Given the description of an element on the screen output the (x, y) to click on. 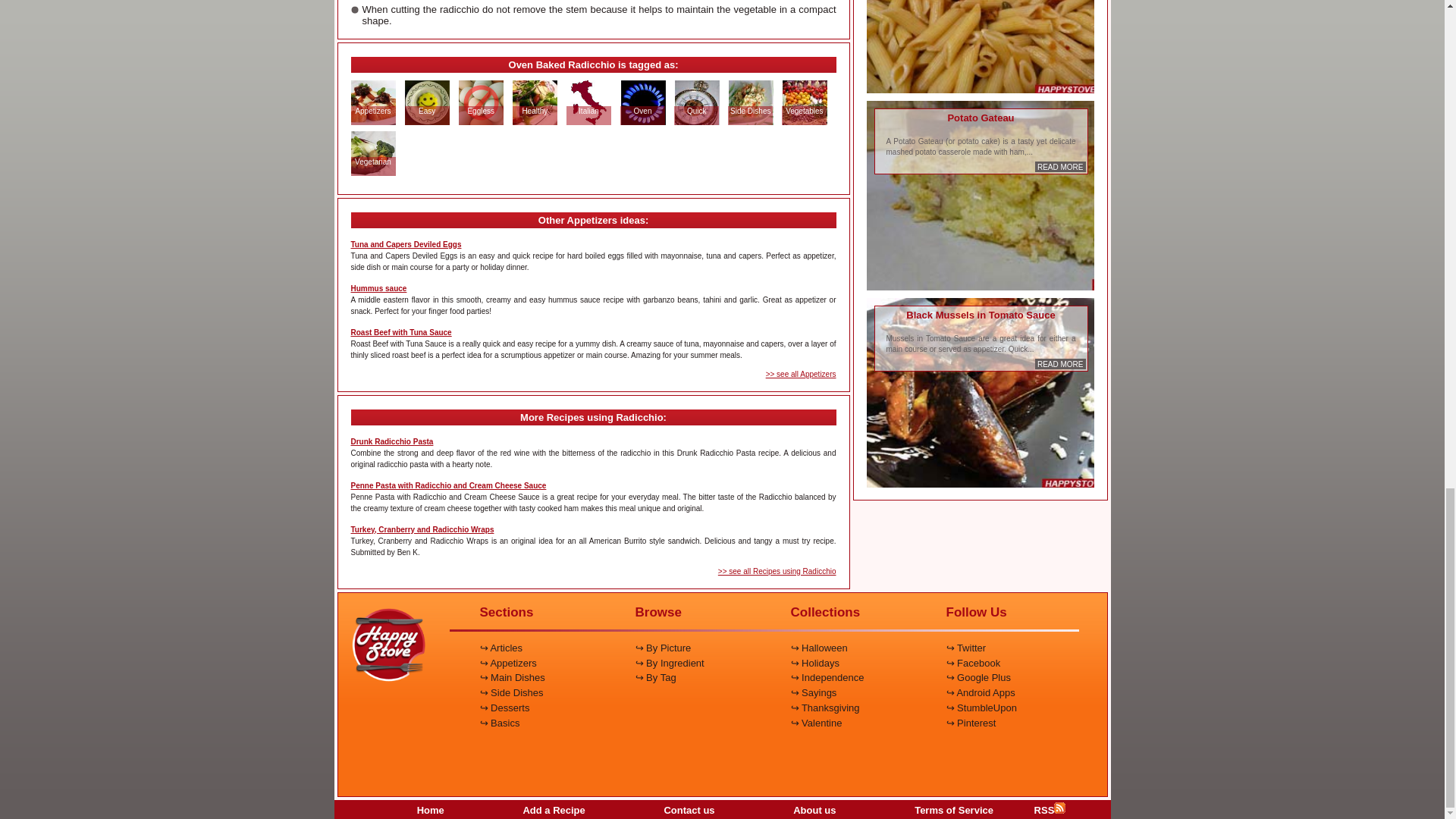
Quick (696, 111)
Italian (588, 111)
Oven (642, 111)
Eggless (480, 111)
Appetizers (372, 111)
Easy (426, 111)
Vegetables (804, 111)
Side Dishes (750, 111)
Healthy (534, 111)
Vegetarian (372, 162)
